Given the description of an element on the screen output the (x, y) to click on. 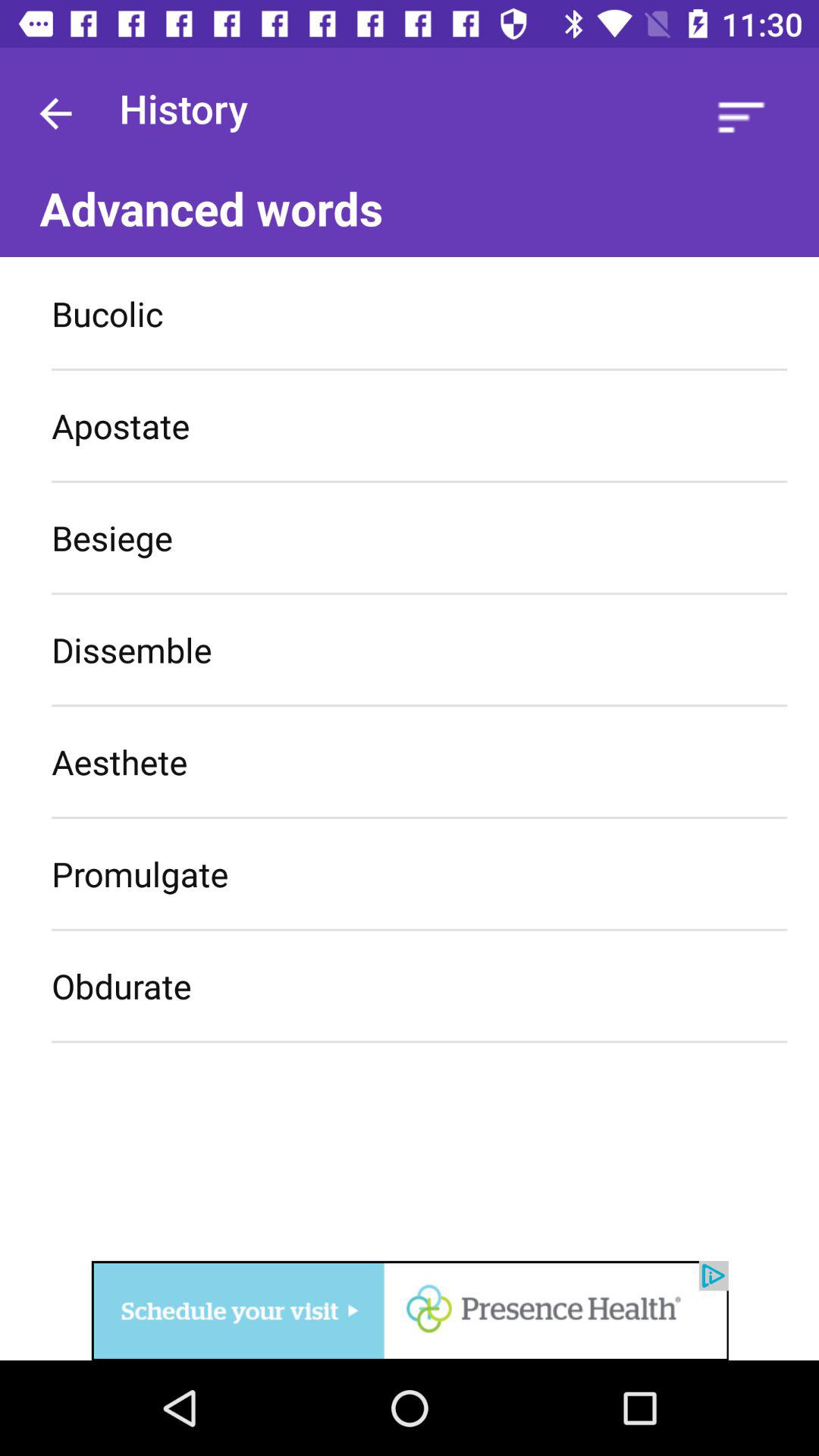
go to menu (741, 117)
